Given the description of an element on the screen output the (x, y) to click on. 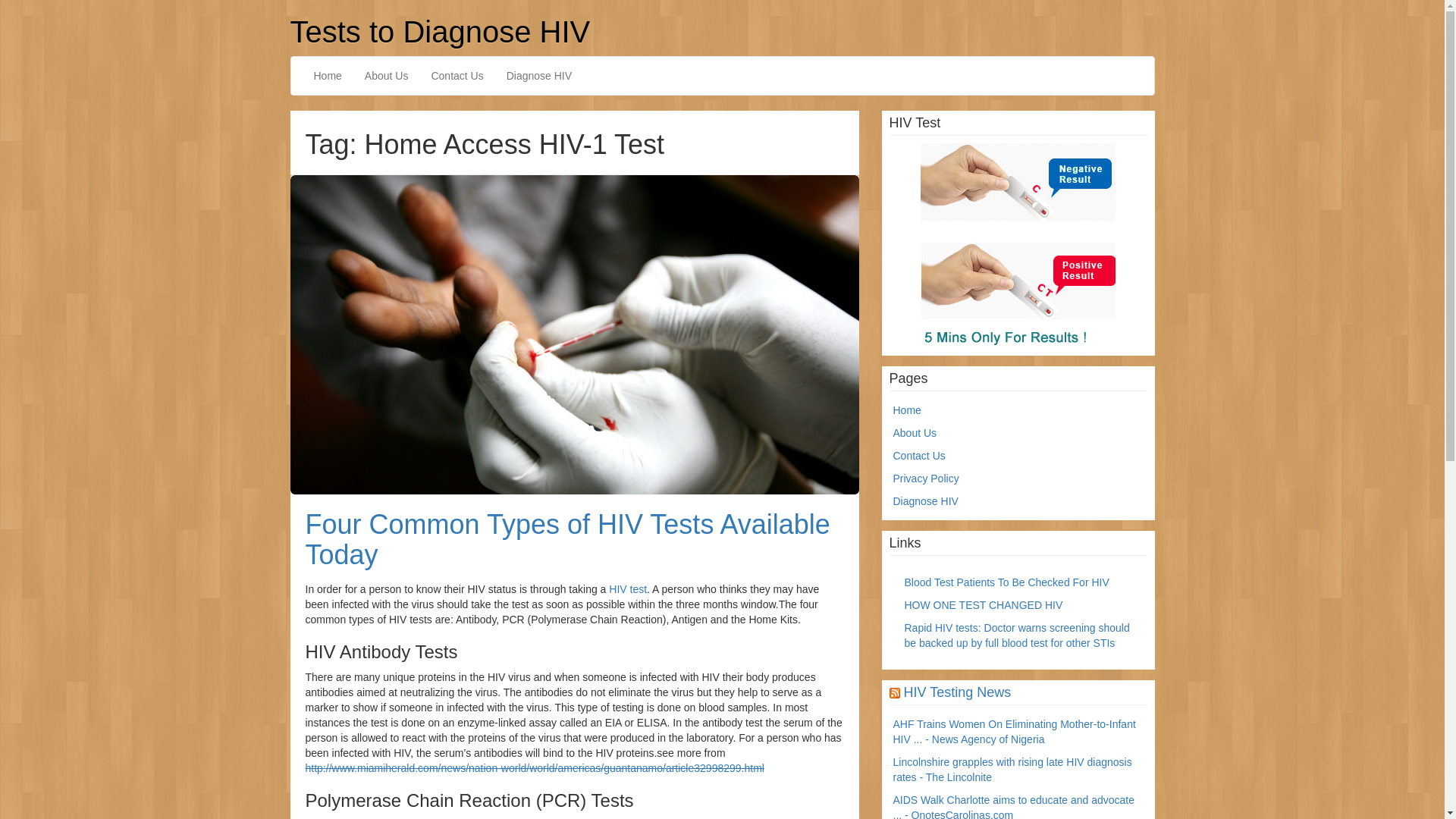
Home Element type: text (907, 410)
HOW ONE TEST CHANGED HIV Element type: text (982, 605)
Home Element type: text (326, 75)
About Us Element type: text (915, 432)
HIV test Element type: text (627, 589)
Diagnose HIV Element type: text (539, 75)
Privacy Policy Element type: text (926, 478)
Contact Us Element type: text (919, 455)
Diagnose HIV Element type: text (925, 501)
Tests to Diagnose HIV Element type: text (439, 31)
Contact Us Element type: text (456, 75)
About Us Element type: text (386, 75)
Blood Test Patients To Be Checked For HIV Element type: text (1005, 582)
Four Common Types of HIV Tests Available Today Element type: hover (573, 335)
Four Common Types of HIV Tests Available Today Element type: text (566, 539)
HIV Testing News Element type: text (957, 691)
